Given the description of an element on the screen output the (x, y) to click on. 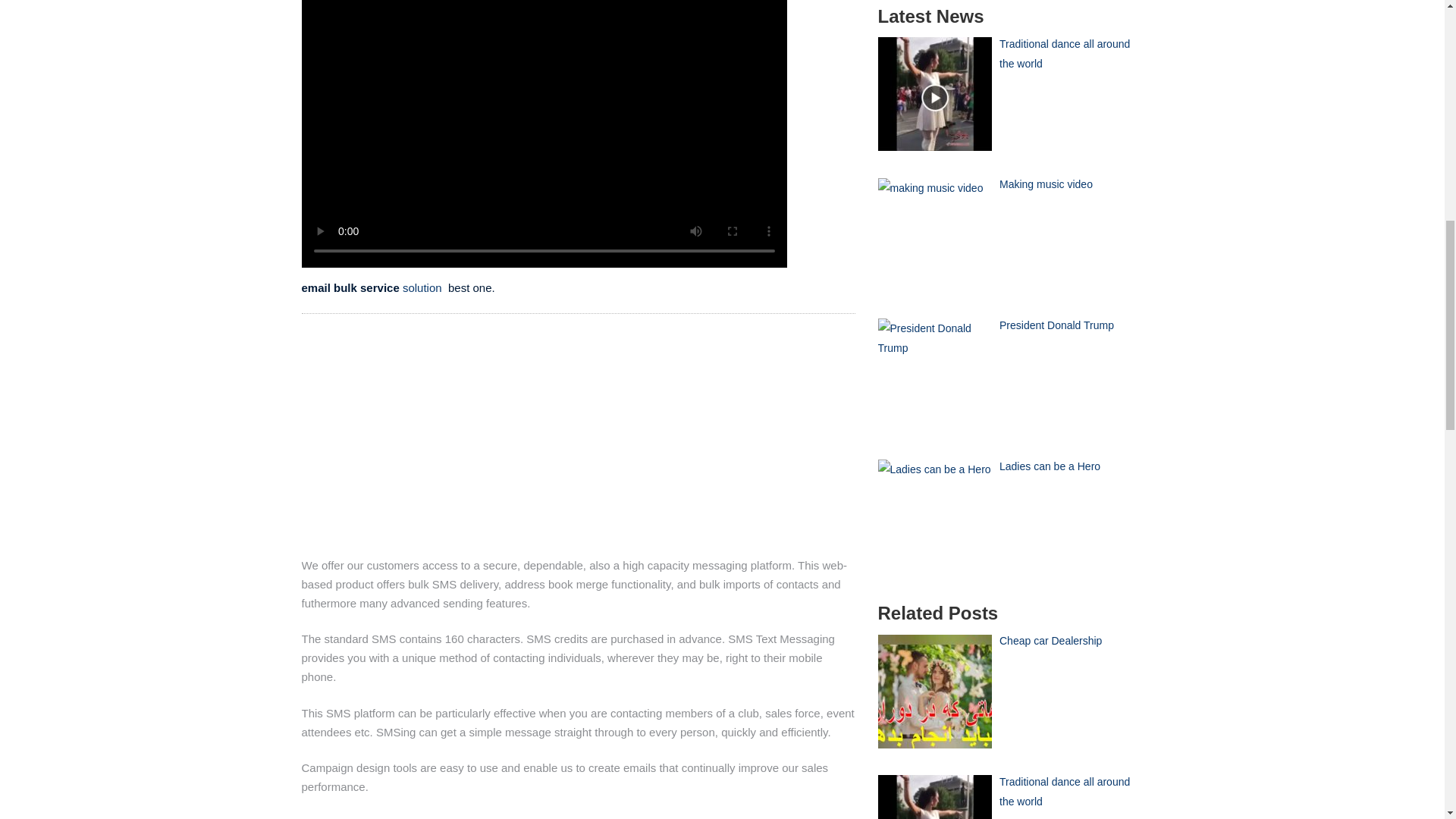
solution (422, 287)
